Given the description of an element on the screen output the (x, y) to click on. 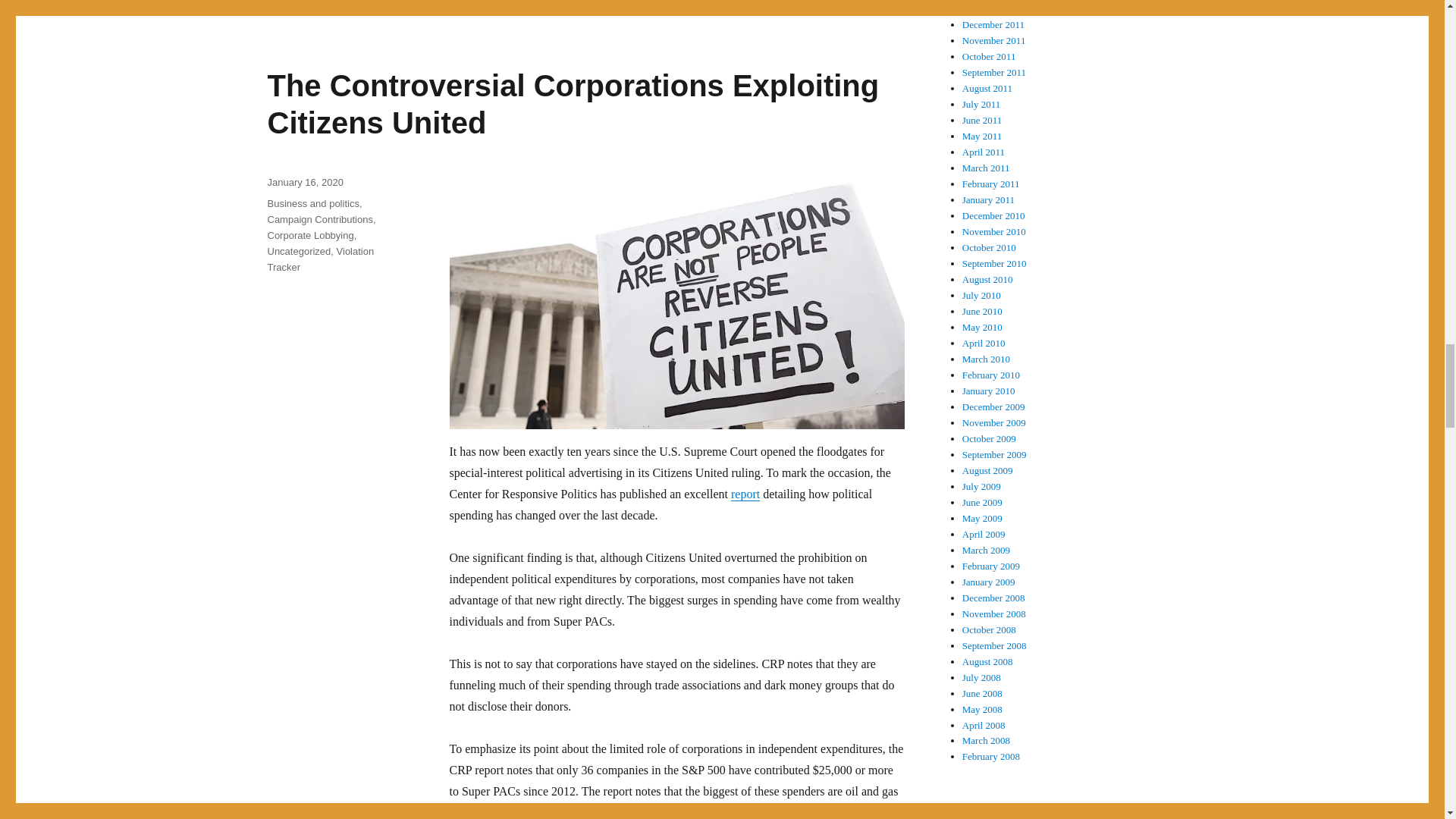
The Controversial Corporations Exploiting Citizens United (572, 103)
Uncategorized (298, 251)
Corporate Lobbying (309, 235)
Violation Tracker (320, 258)
Business and politics (312, 203)
January 16, 2020 (304, 182)
report (745, 493)
Campaign Contributions (319, 219)
